Given the description of an element on the screen output the (x, y) to click on. 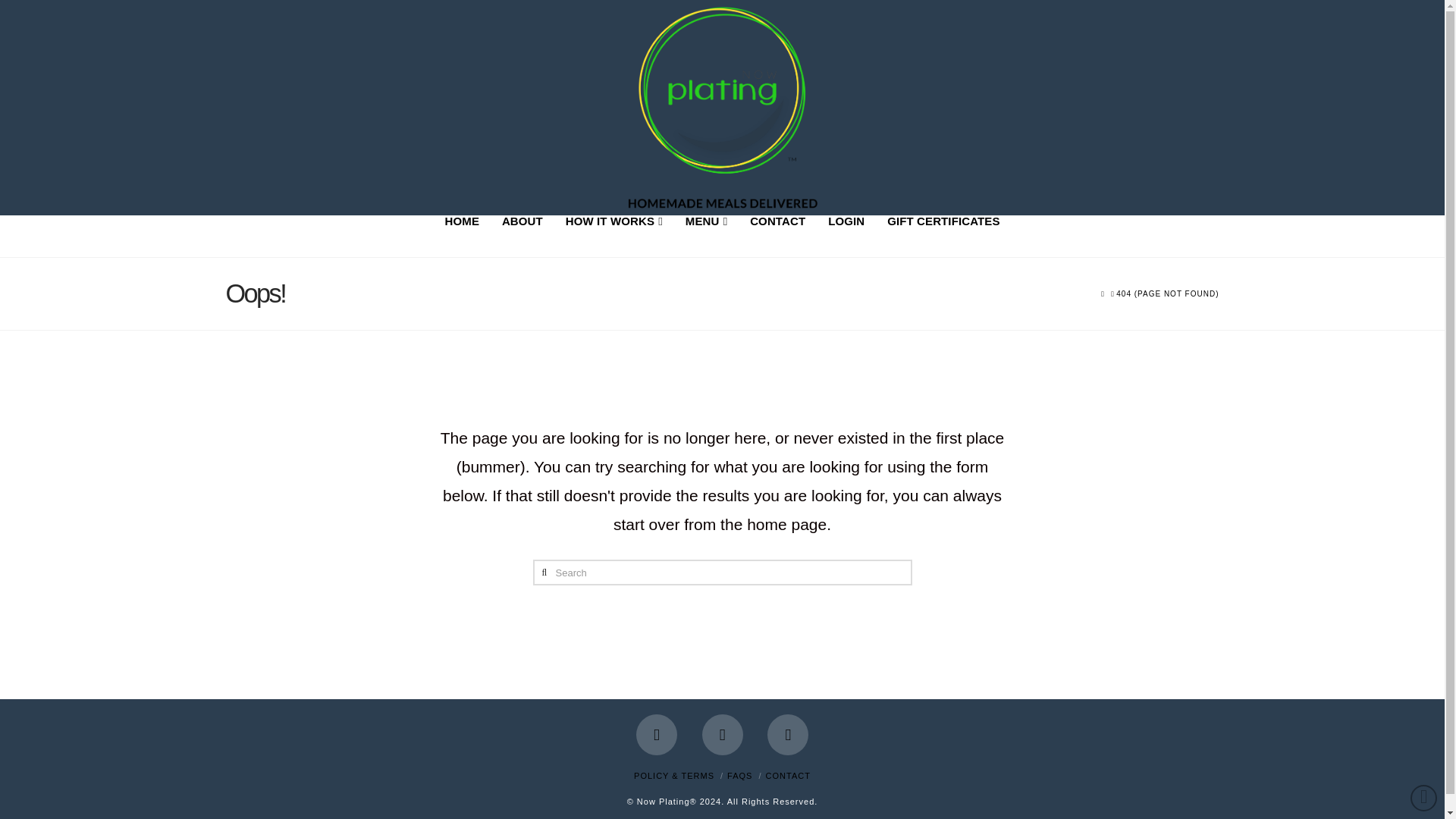
ABOUT (522, 236)
Facebook (656, 734)
HOW IT WORKS (614, 236)
You Are Here (1167, 293)
Instagram (787, 734)
LOGIN (846, 236)
HOME (461, 236)
Back to Top (1423, 797)
CONTACT (787, 775)
MENU (706, 236)
CONTACT (777, 236)
GIFT CERTIFICATES (943, 236)
FAQS (739, 775)
Twitter (721, 734)
